Given the description of an element on the screen output the (x, y) to click on. 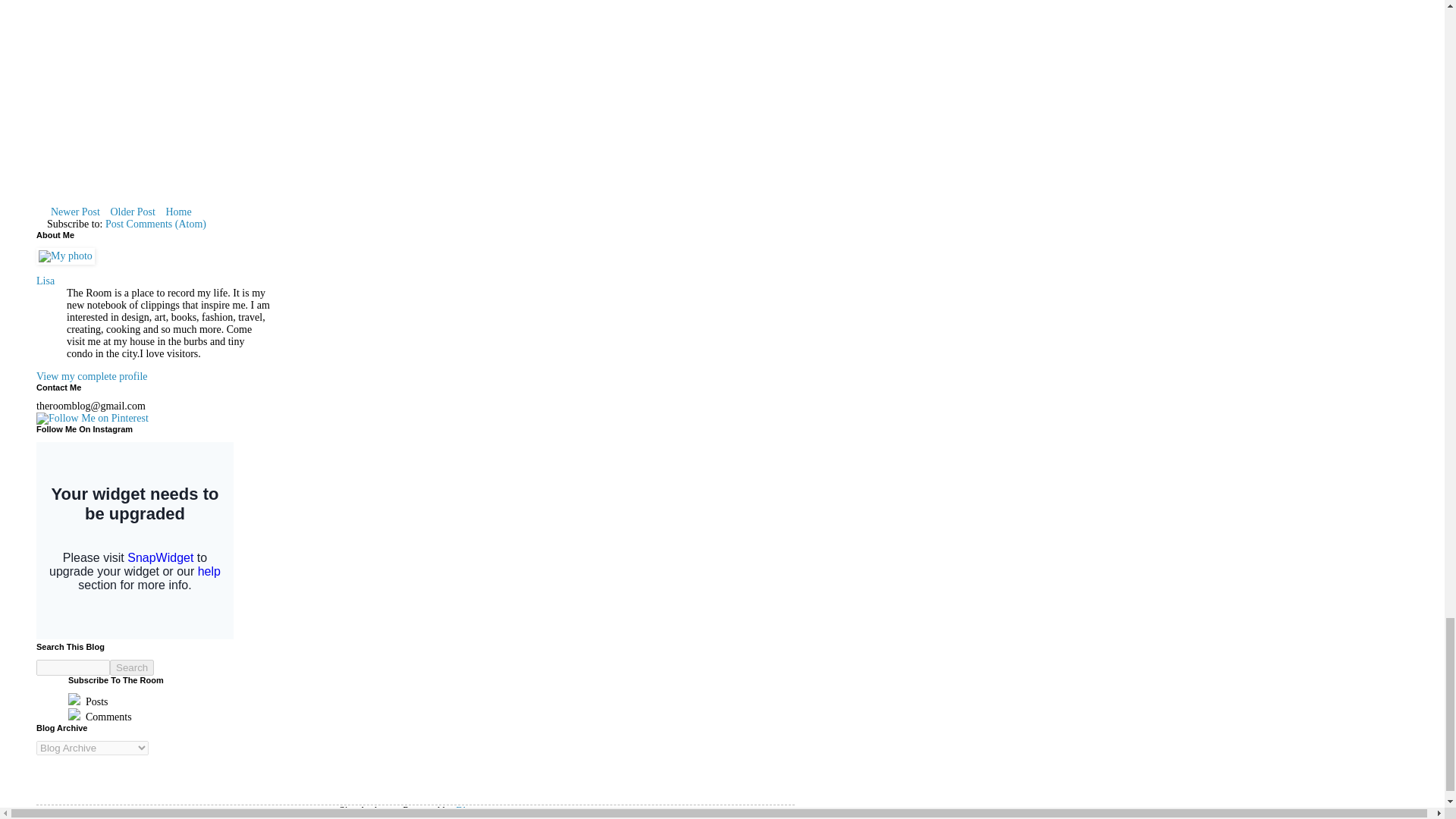
search (73, 667)
Search (132, 667)
Search (132, 667)
Newer Post (74, 211)
Older Post (132, 211)
Newer Post (74, 211)
Search (132, 667)
search (132, 667)
Home (178, 211)
View my complete profile (92, 376)
Instagram Widget (134, 540)
Older Post (132, 211)
Lisa (45, 280)
